Given the description of an element on the screen output the (x, y) to click on. 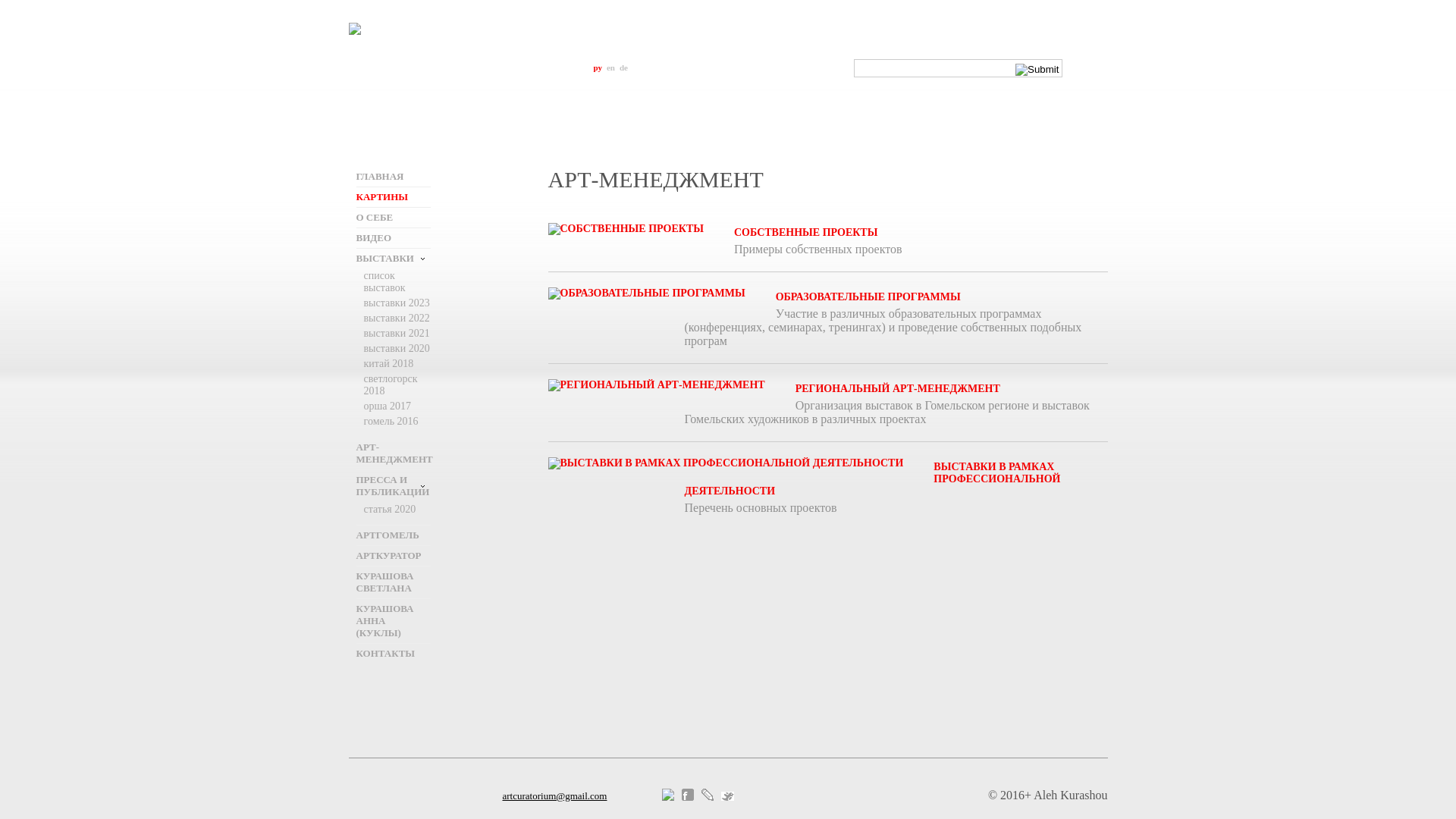
de Element type: text (623, 67)
artcuratorium@gmail.com Element type: text (554, 795)
LiveJournal Element type: hover (710, 796)
vkontakte Element type: hover (670, 796)
Facebook Element type: hover (690, 796)
en Element type: text (610, 67)
Tweeter Element type: hover (730, 796)
